Given the description of an element on the screen output the (x, y) to click on. 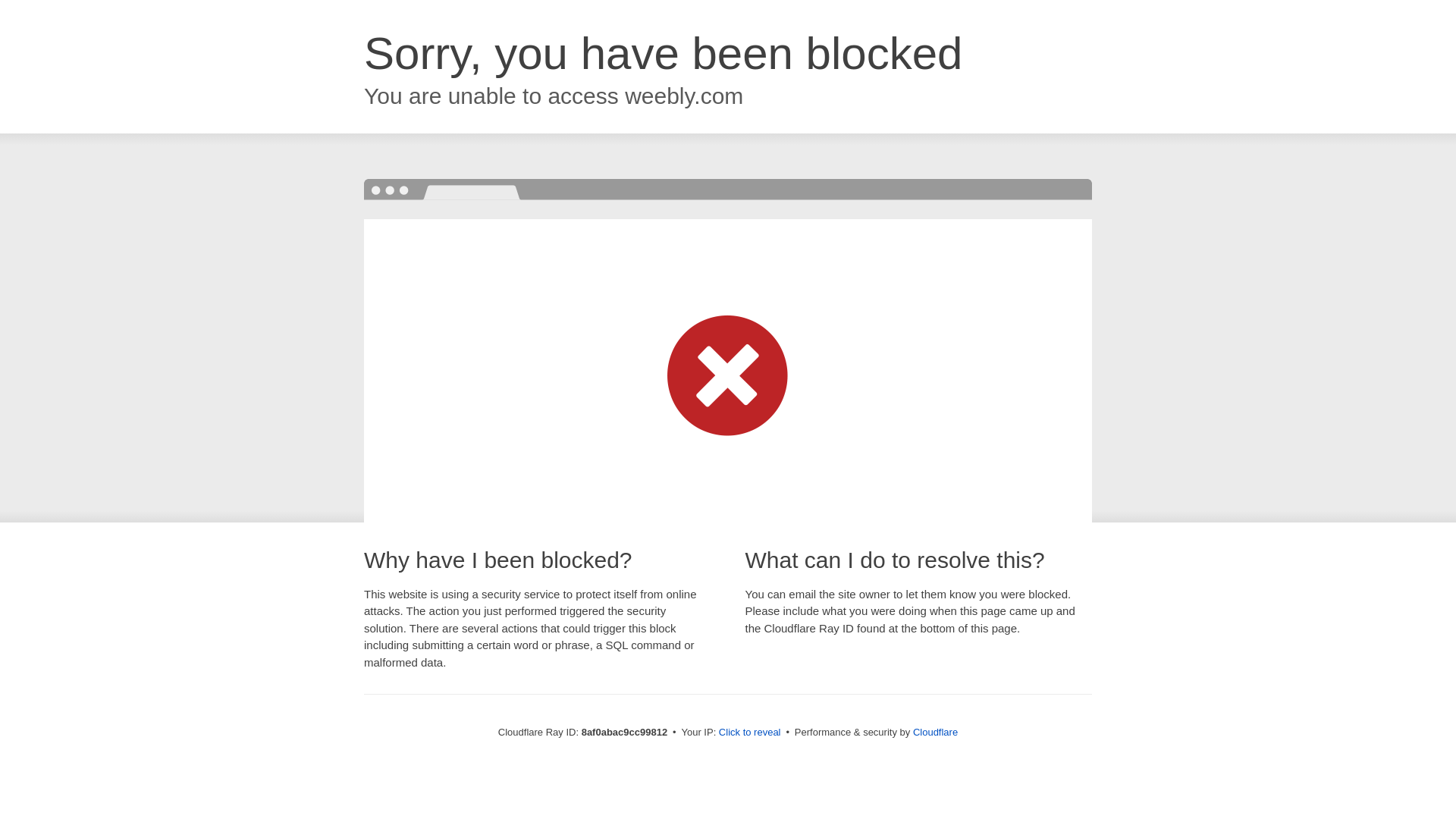
Cloudflare (935, 731)
Click to reveal (749, 732)
